Given the description of an element on the screen output the (x, y) to click on. 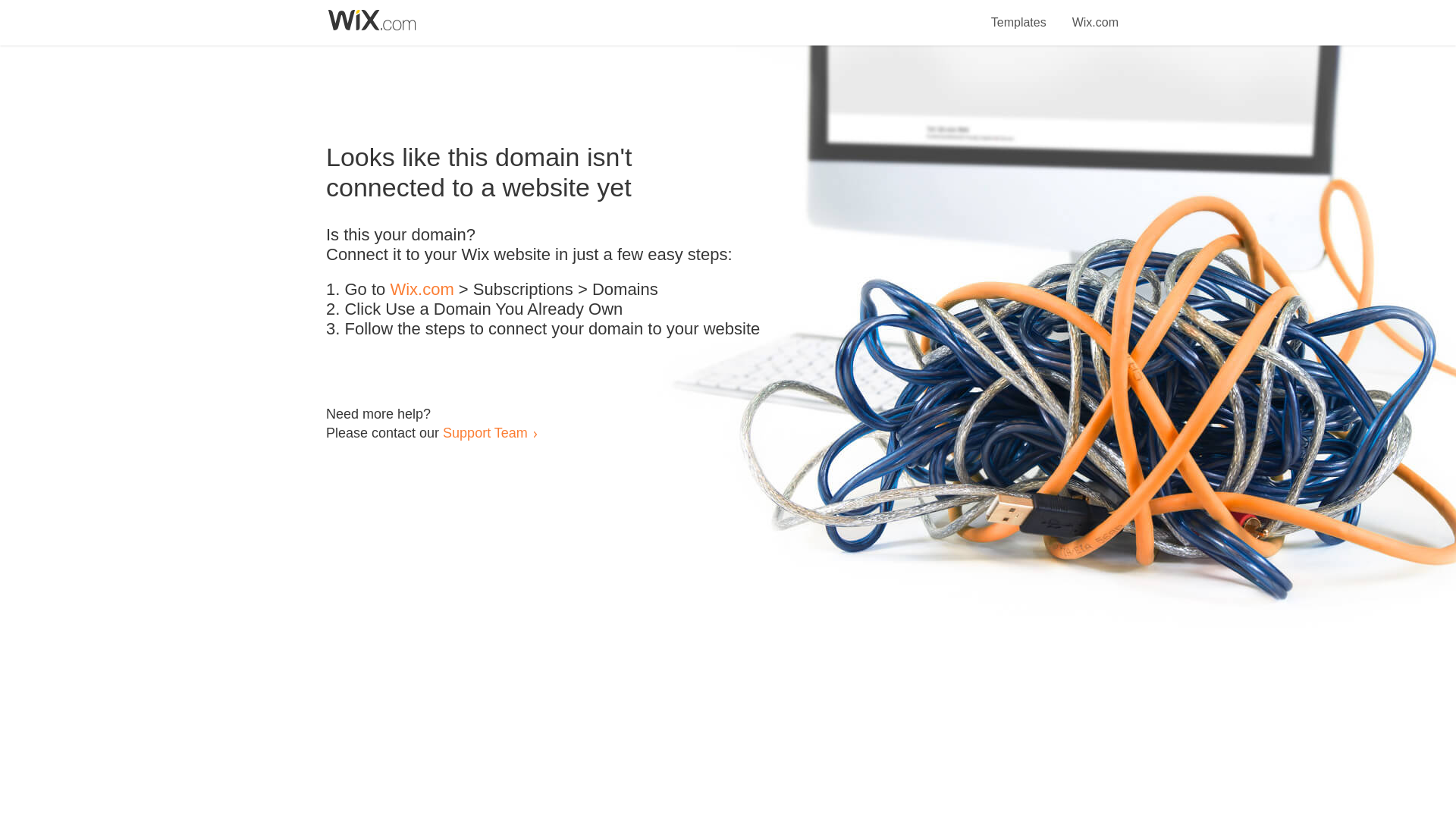
Wix.com (1095, 14)
Support Team (484, 432)
Wix.com (421, 289)
Templates (1018, 14)
